Given the description of an element on the screen output the (x, y) to click on. 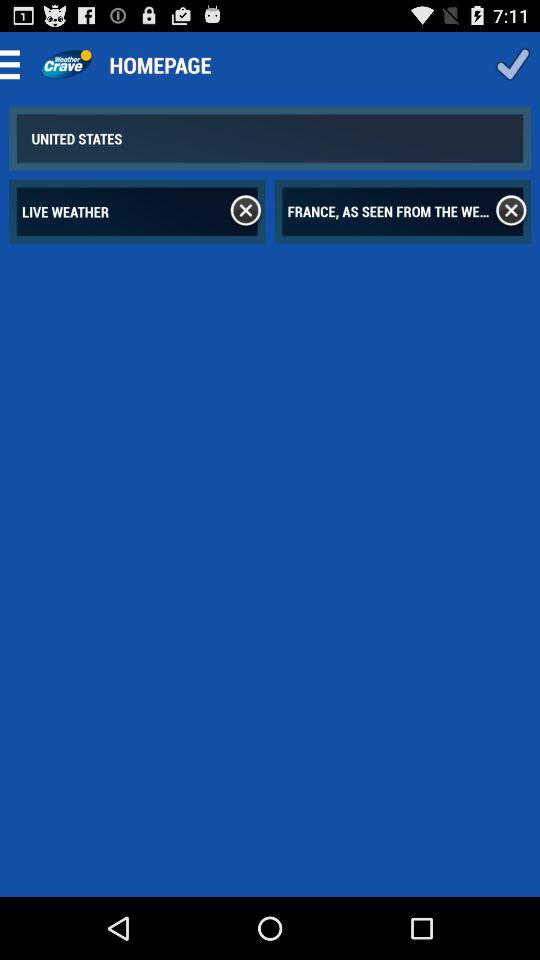
tap item to the right of the homepage item (512, 64)
